Given the description of an element on the screen output the (x, y) to click on. 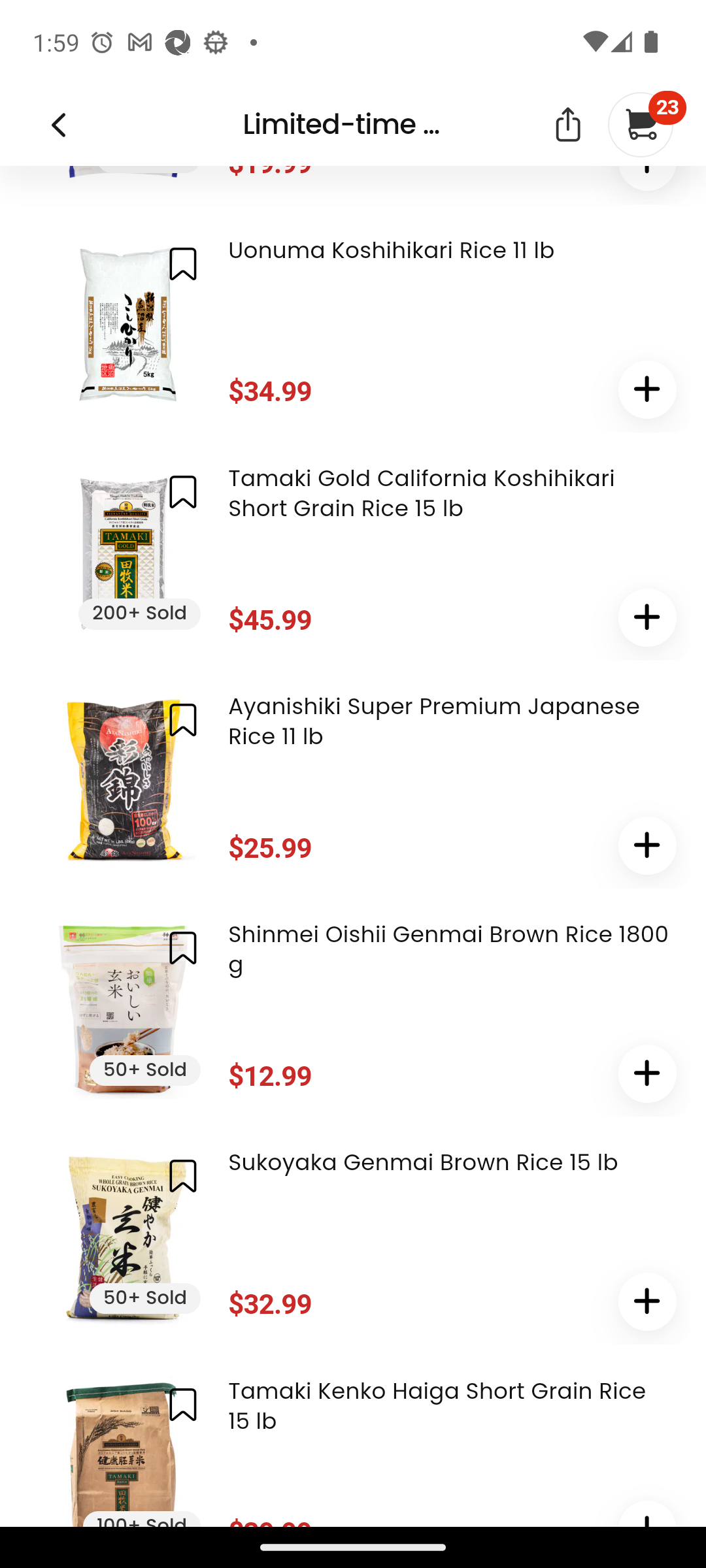
Weee! - Groceries Delivered (57, 124)
23 My cart (639, 125)
 (567, 125)
 (182, 263)
 (647, 390)
 (182, 493)
 (647, 618)
 (182, 720)
 (647, 846)
 (182, 948)
 (647, 1074)
 (182, 1176)
 (647, 1302)
 (182, 1403)
